Given the description of an element on the screen output the (x, y) to click on. 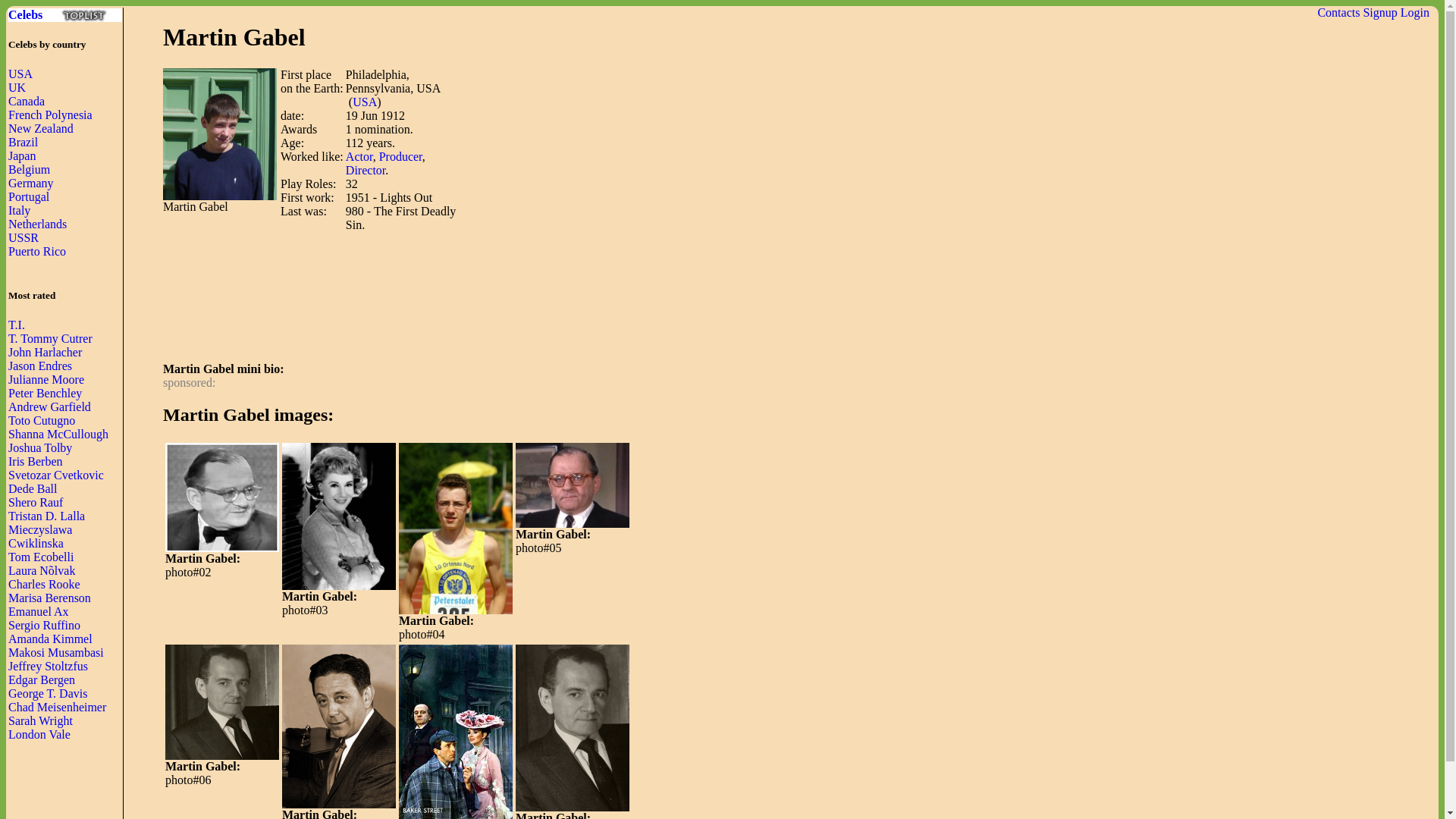
Iris Berben (35, 461)
Peter Benchley (44, 392)
T. Tommy Cutrer (50, 338)
Netherlands (37, 223)
Celebs (65, 15)
Brazil (22, 141)
Martin Gabel (222, 497)
Belgium (28, 169)
Charles Rooke (44, 584)
Canada (26, 101)
Italy (19, 210)
Germany (30, 182)
Shanna McCullough (57, 433)
Japan (21, 155)
Joshua Tolby (39, 447)
